Given the description of an element on the screen output the (x, y) to click on. 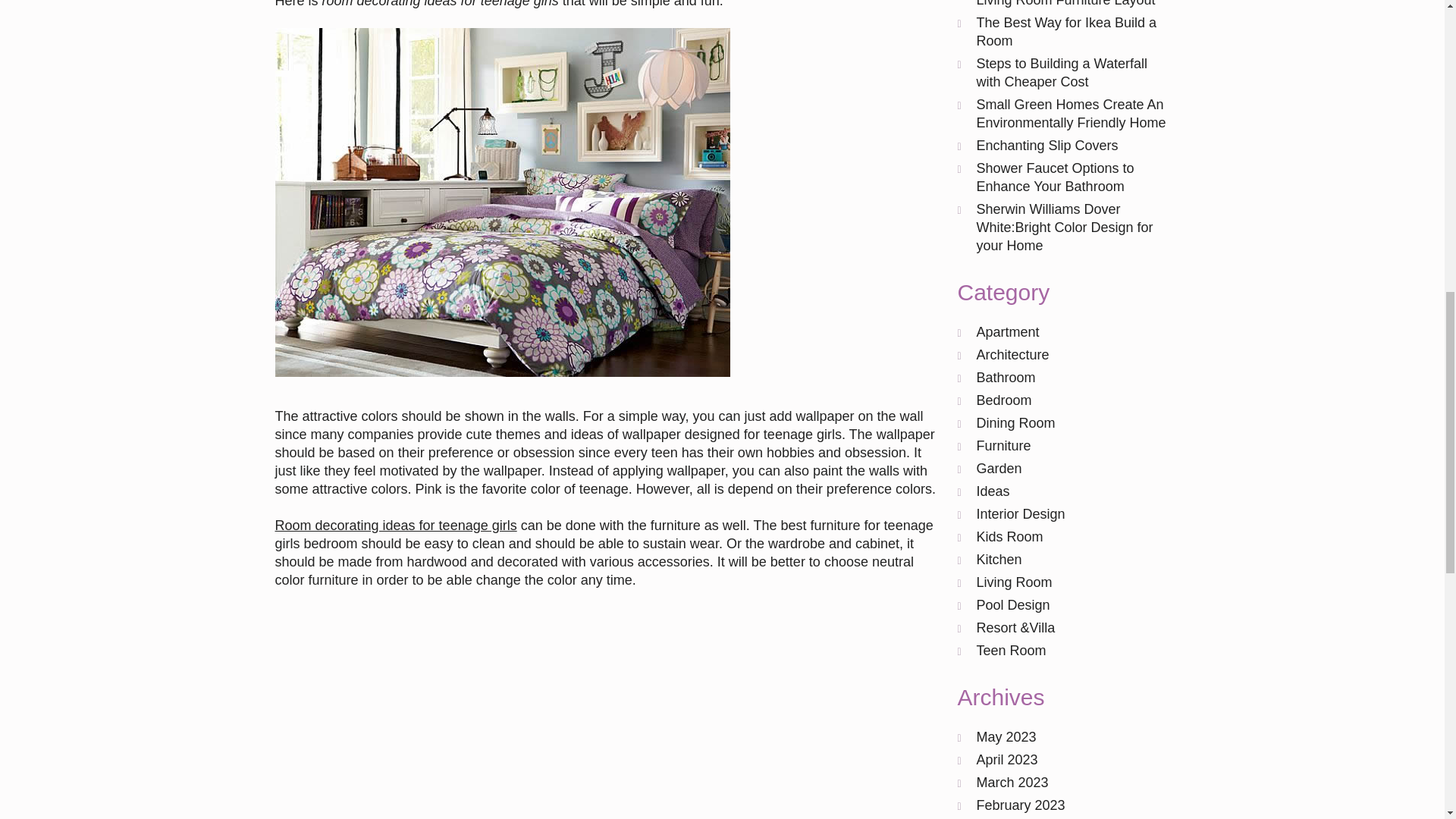
Furniture (1003, 445)
Steps to Building a Waterfall with Cheaper Cost (1061, 72)
Teen Room (1011, 650)
Architecture (1012, 354)
Kids Room (1009, 536)
Living Room (1014, 581)
Dining Room (1015, 422)
Garden (999, 468)
Small Green Homes Create An Environmentally Friendly Home (1071, 113)
Interior Design (1020, 513)
